Given the description of an element on the screen output the (x, y) to click on. 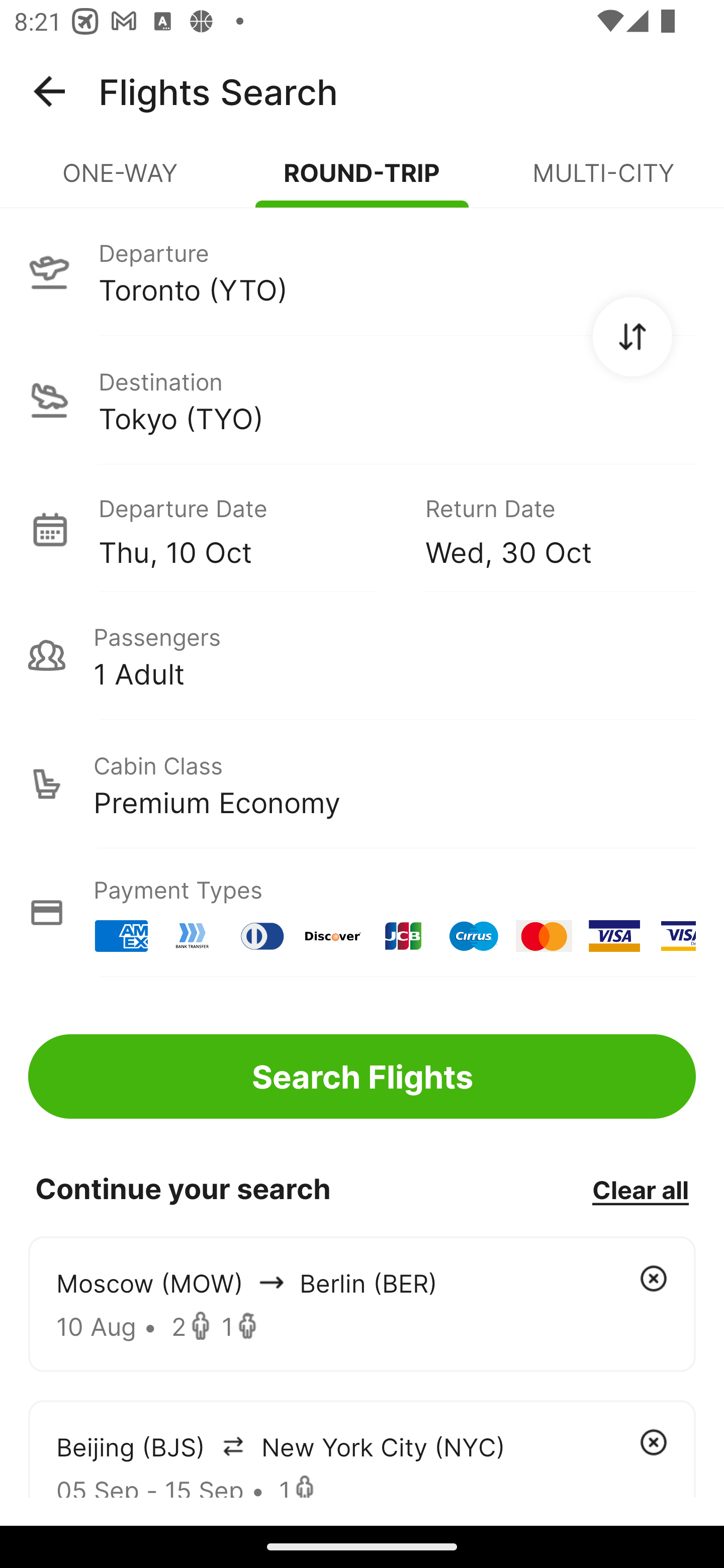
ONE-WAY (120, 180)
ROUND-TRIP (361, 180)
MULTI-CITY (603, 180)
Departure Toronto (YTO) (362, 270)
Destination Tokyo (TYO) (362, 400)
Departure Date Thu, 10 Oct (247, 528)
Return Date Wed, 30 Oct (546, 528)
Passengers 1 Adult (362, 655)
Cabin Class Premium Economy (362, 783)
Payment Types (362, 912)
Search Flights (361, 1075)
Clear all (640, 1189)
